Given the description of an element on the screen output the (x, y) to click on. 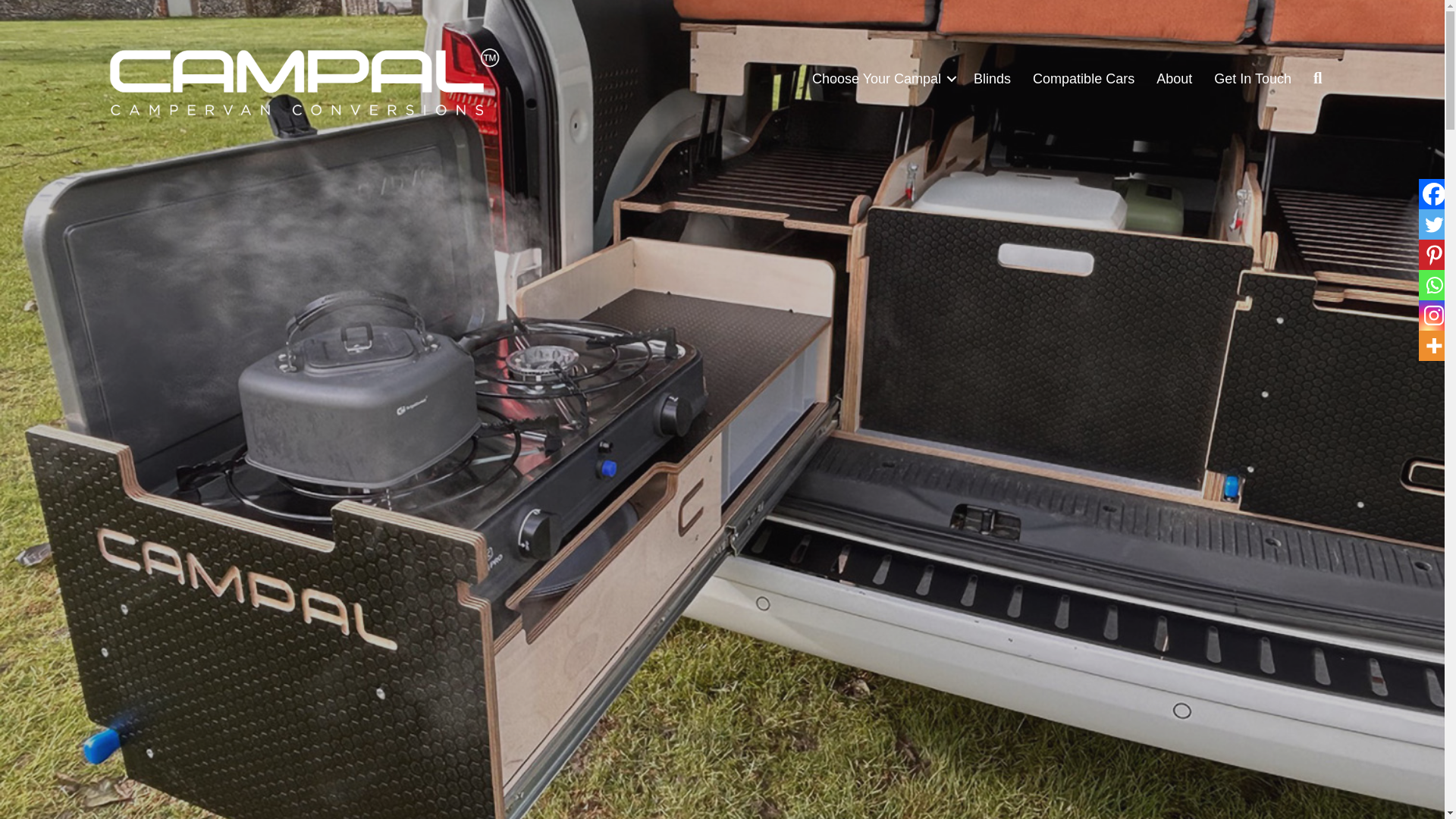
Search (1321, 78)
About (1173, 78)
Blinds (992, 78)
Choose Your Campal (882, 78)
Get In Touch (1252, 78)
Compatible Cars (1083, 78)
